Given the description of an element on the screen output the (x, y) to click on. 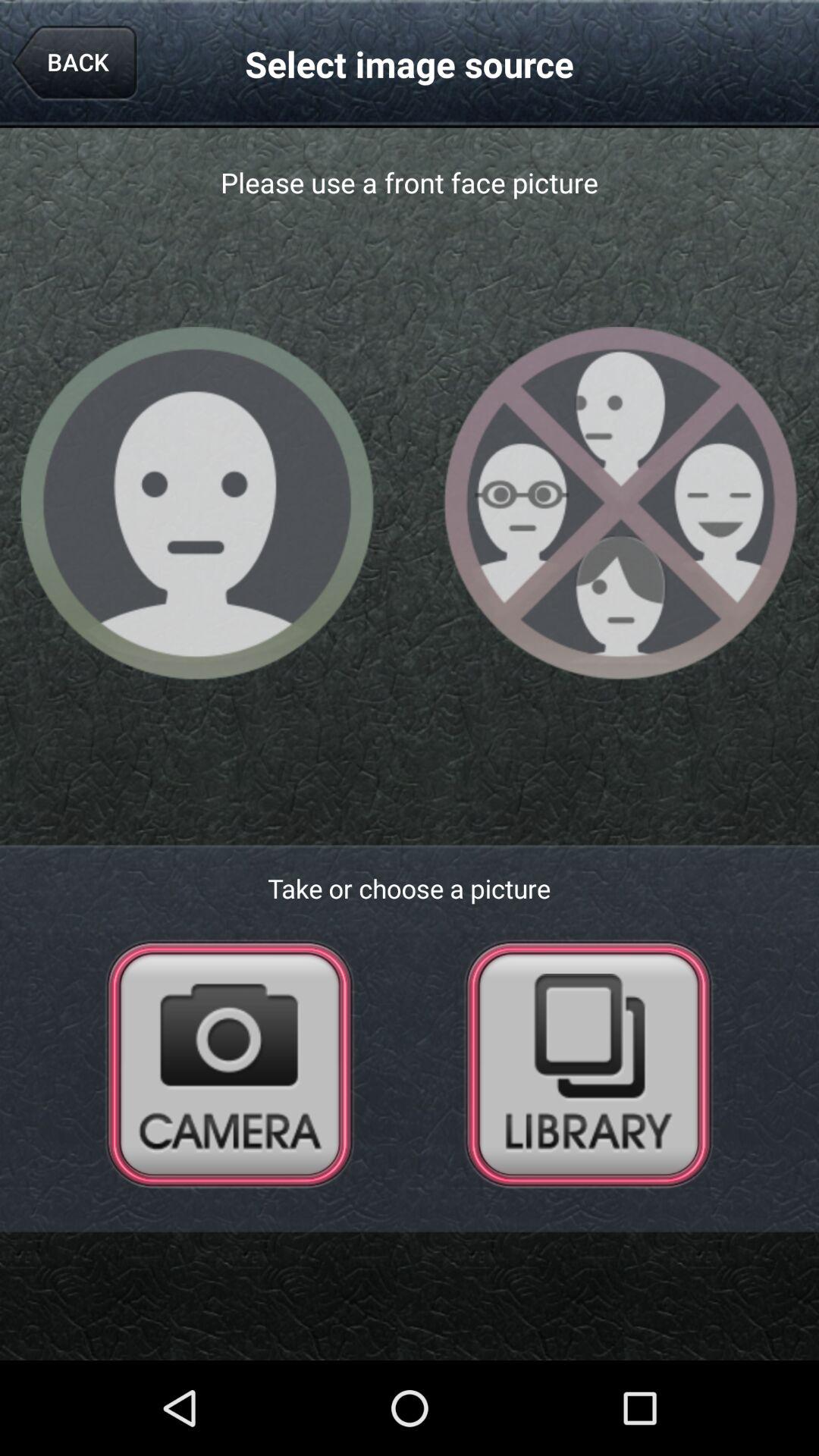
launch icon at the top left corner (74, 63)
